Given the description of an element on the screen output the (x, y) to click on. 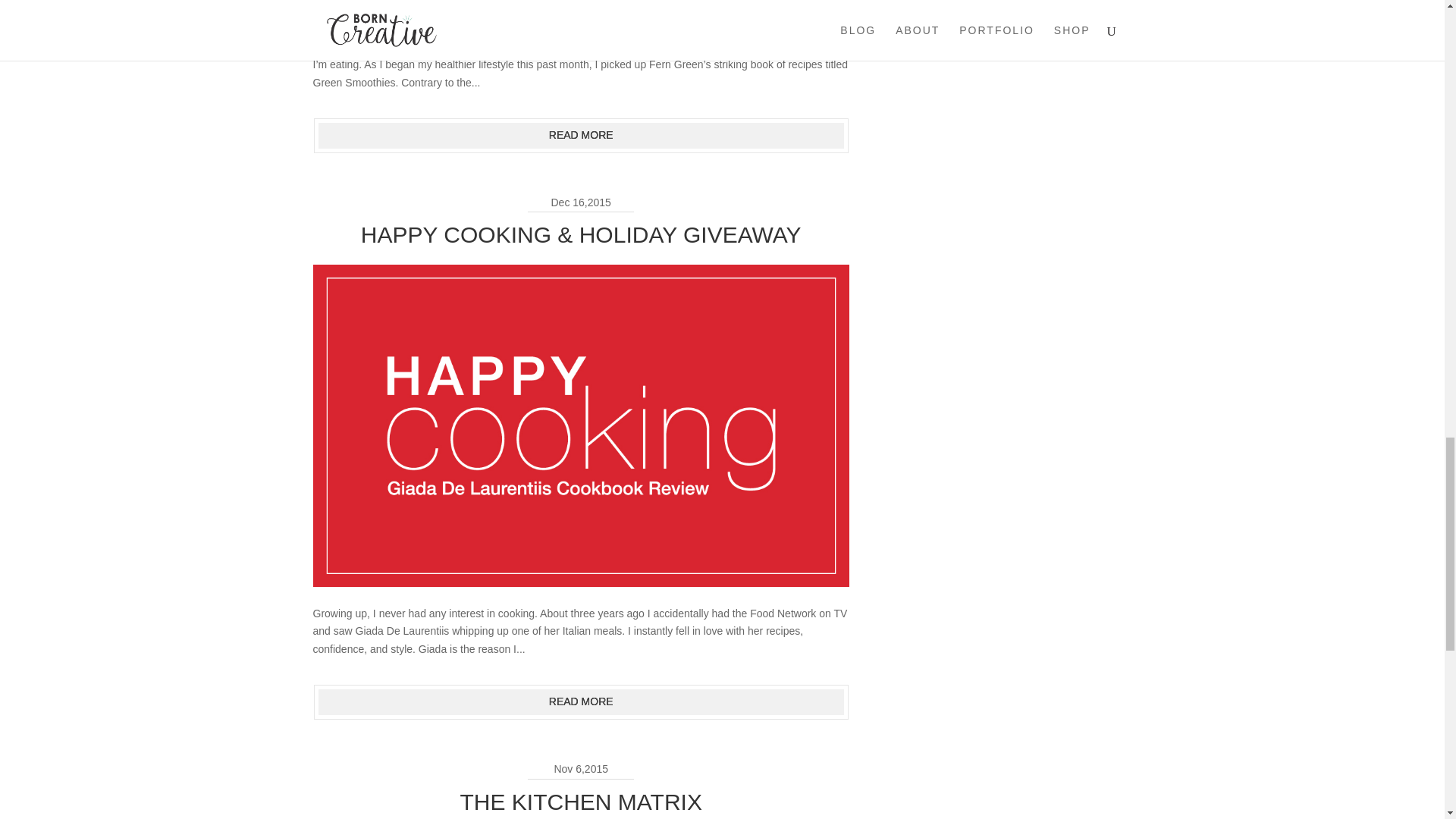
READ MORE (581, 135)
READ MORE (581, 701)
